Given the description of an element on the screen output the (x, y) to click on. 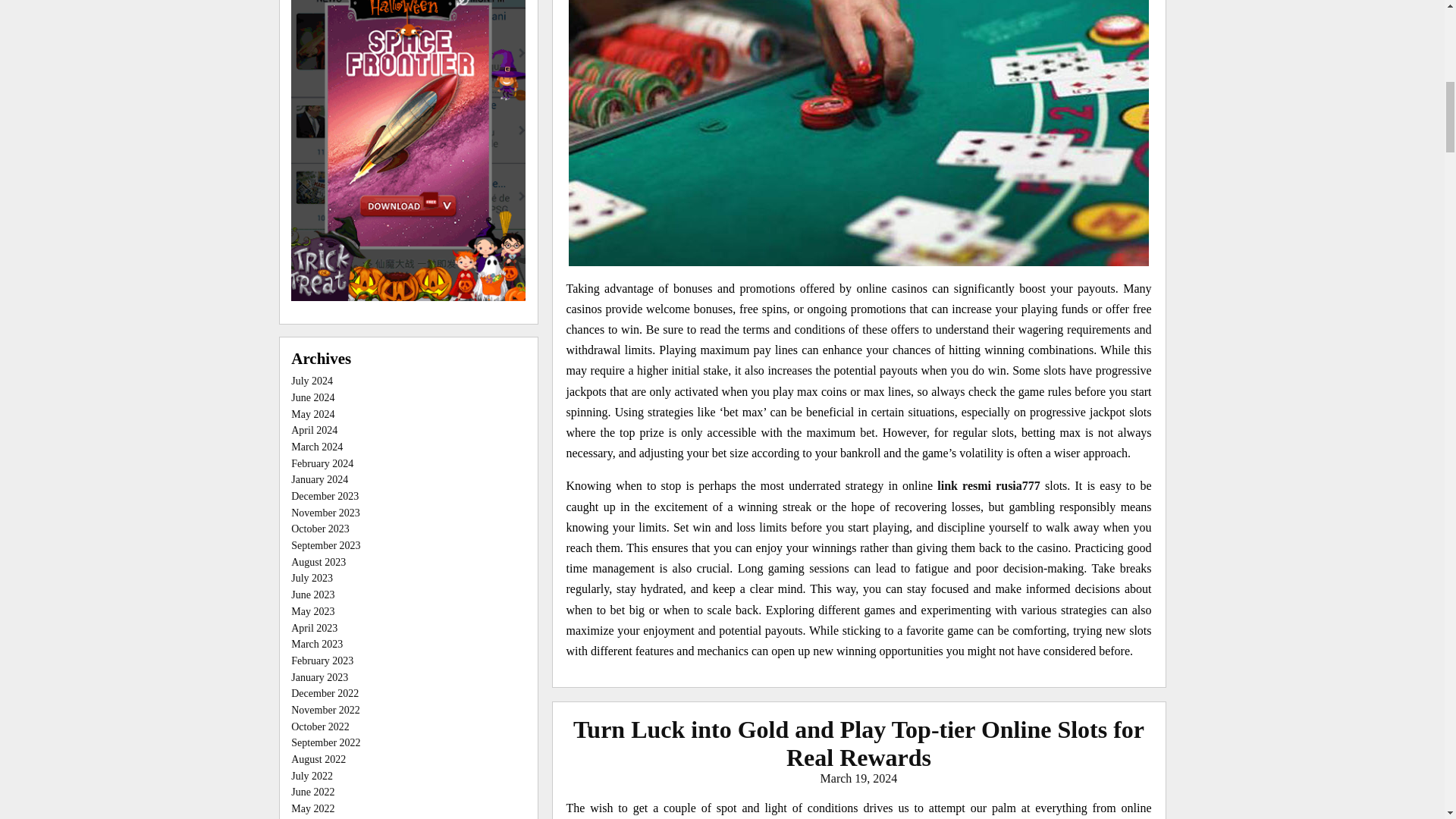
March 19, 2024 (859, 778)
link resmi rusia777 (989, 485)
